Given the description of an element on the screen output the (x, y) to click on. 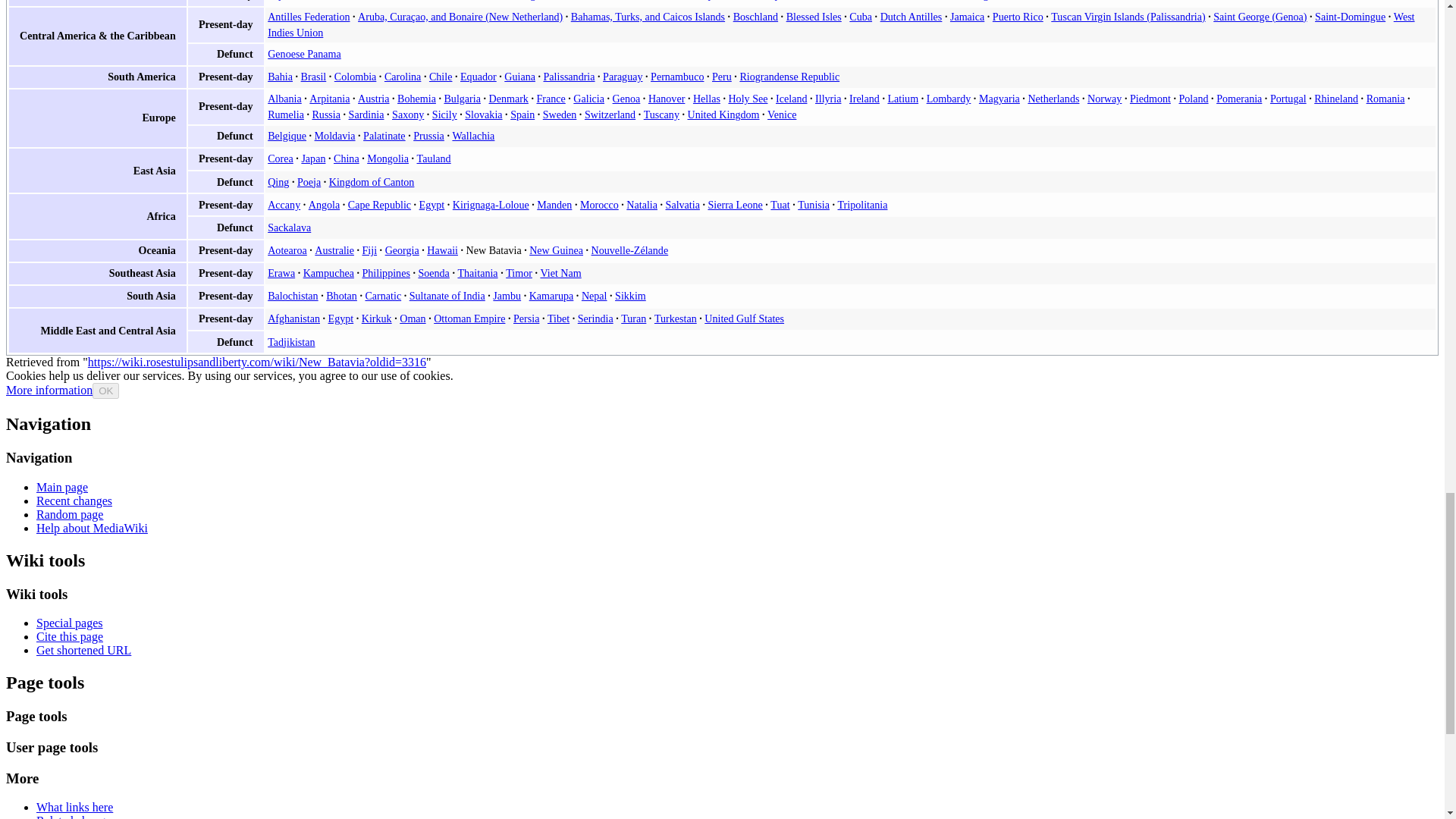
Opdamsland (727, 0)
New France (587, 0)
Rupert's Land (791, 0)
New England (525, 0)
New Netherland (657, 0)
